Given the description of an element on the screen output the (x, y) to click on. 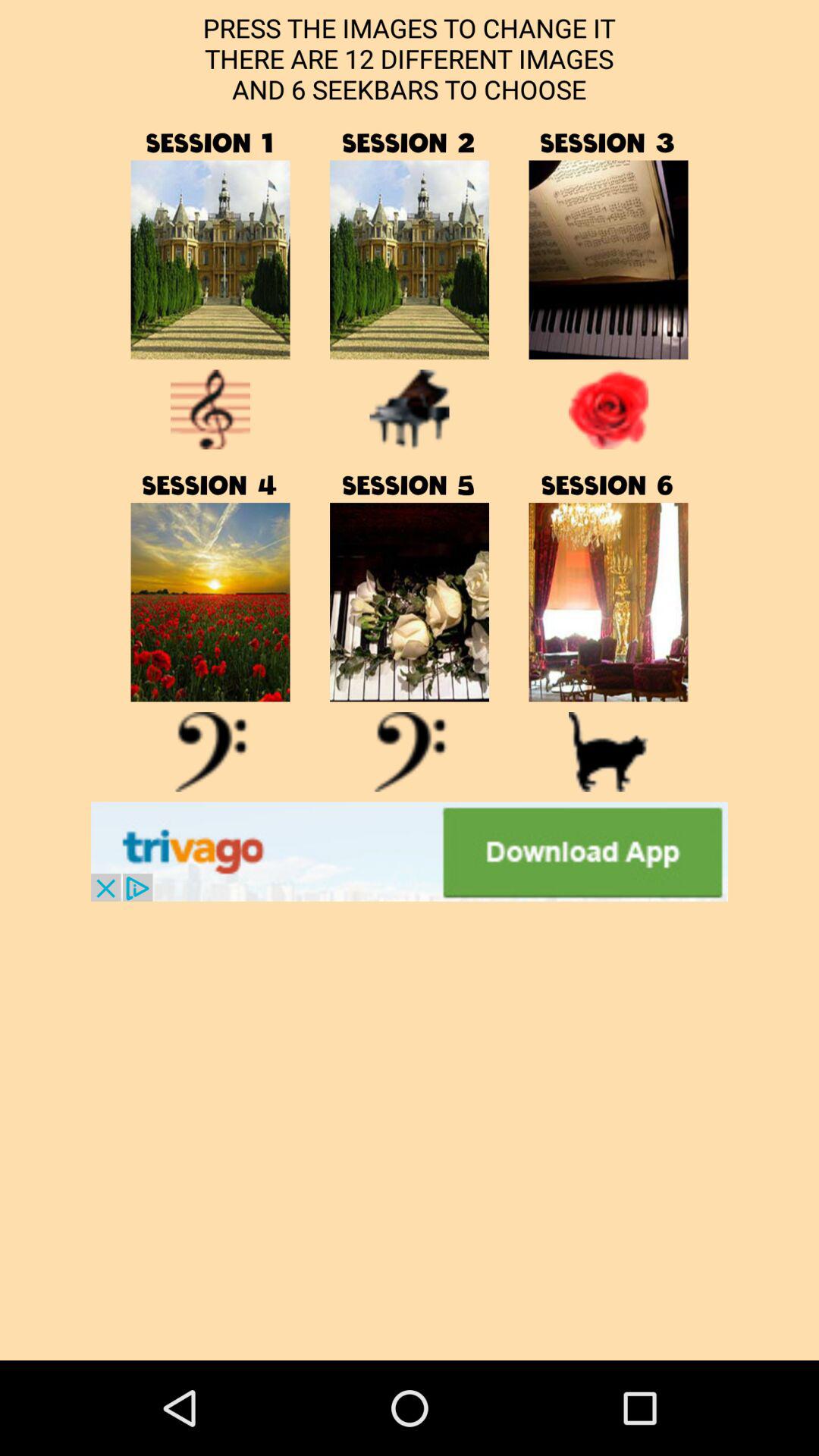
open (409, 851)
